Given the description of an element on the screen output the (x, y) to click on. 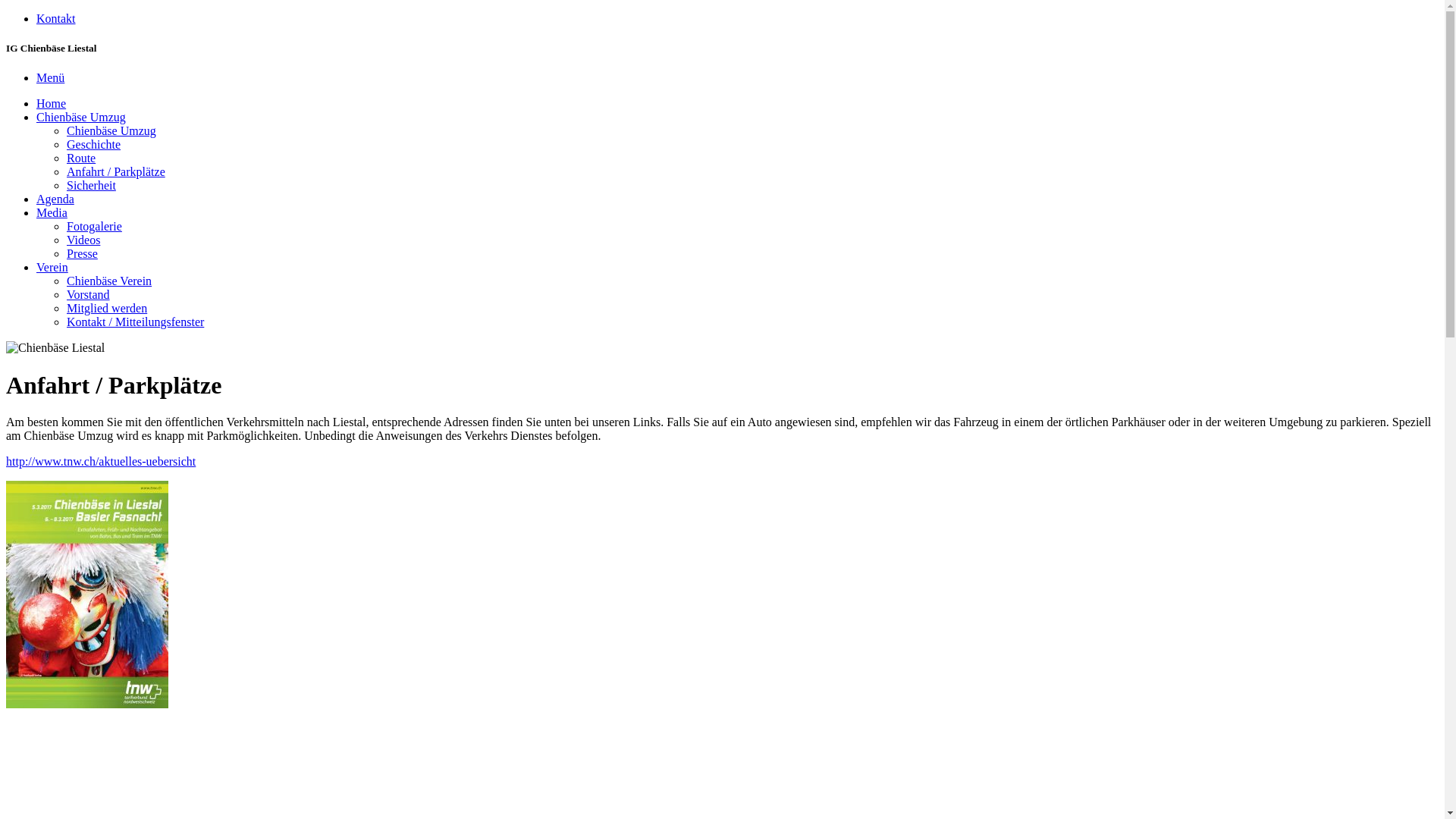
Videos Element type: text (83, 239)
Verein Element type: text (52, 266)
Agenda Element type: text (55, 198)
Media Element type: text (51, 212)
Geschichte Element type: text (93, 144)
Presse Element type: text (81, 253)
Vorstand Element type: text (87, 294)
Home Element type: text (50, 103)
http://www.tnw.ch/aktuelles-uebersicht Element type: text (100, 461)
Sicherheit Element type: text (91, 184)
Mitglied werden Element type: text (106, 307)
Route Element type: text (80, 157)
Fotogalerie Element type: text (94, 225)
Kontakt Element type: text (55, 18)
Kontakt / Mitteilungsfenster Element type: text (134, 321)
